Given the description of an element on the screen output the (x, y) to click on. 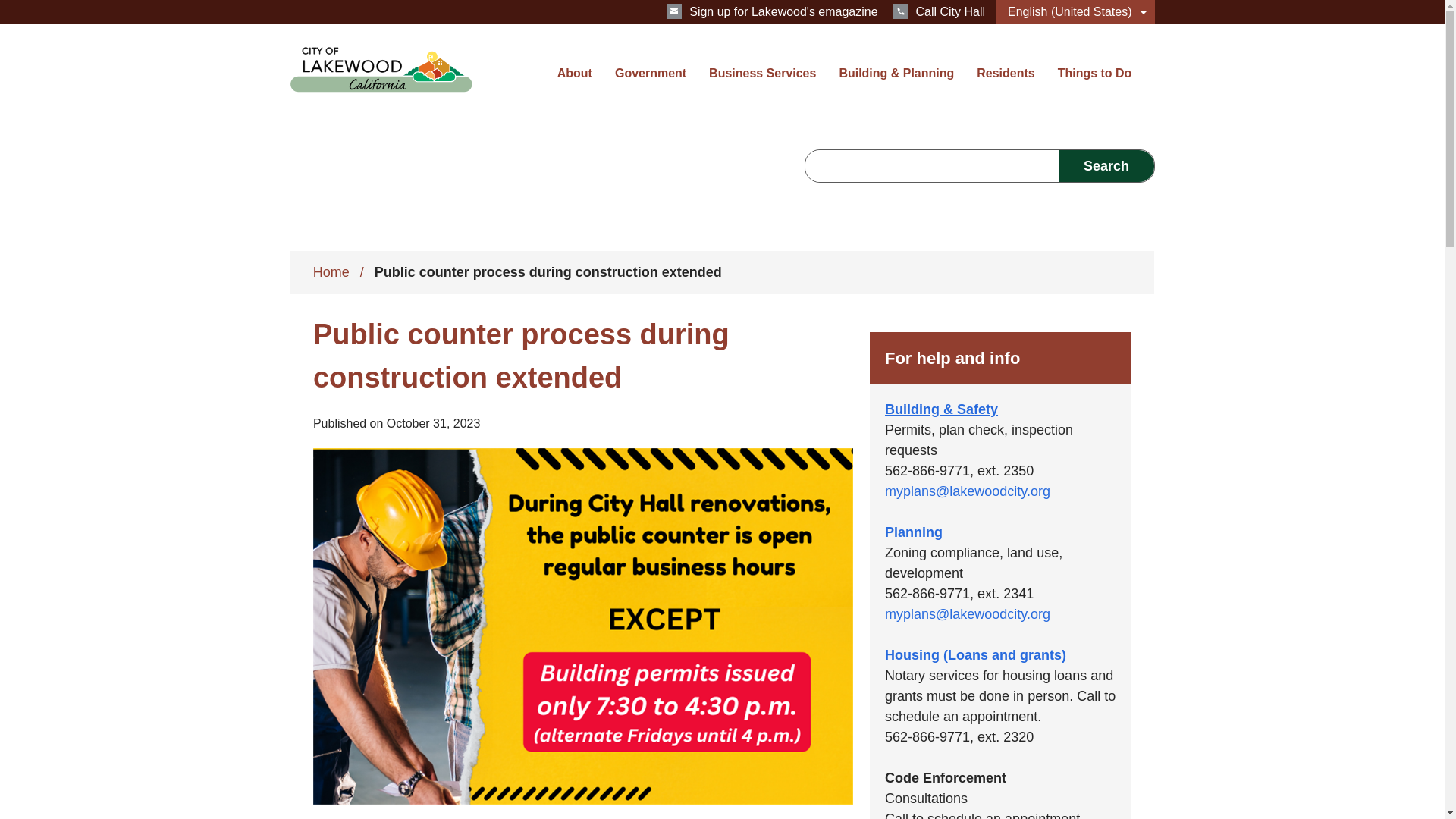
Search (1105, 165)
Search (1105, 165)
City of Lakewood - Home - Logo (380, 69)
About (575, 82)
Sign up for Lakewood's emagazine (771, 11)
Call City Hall (939, 11)
